Given the description of an element on the screen output the (x, y) to click on. 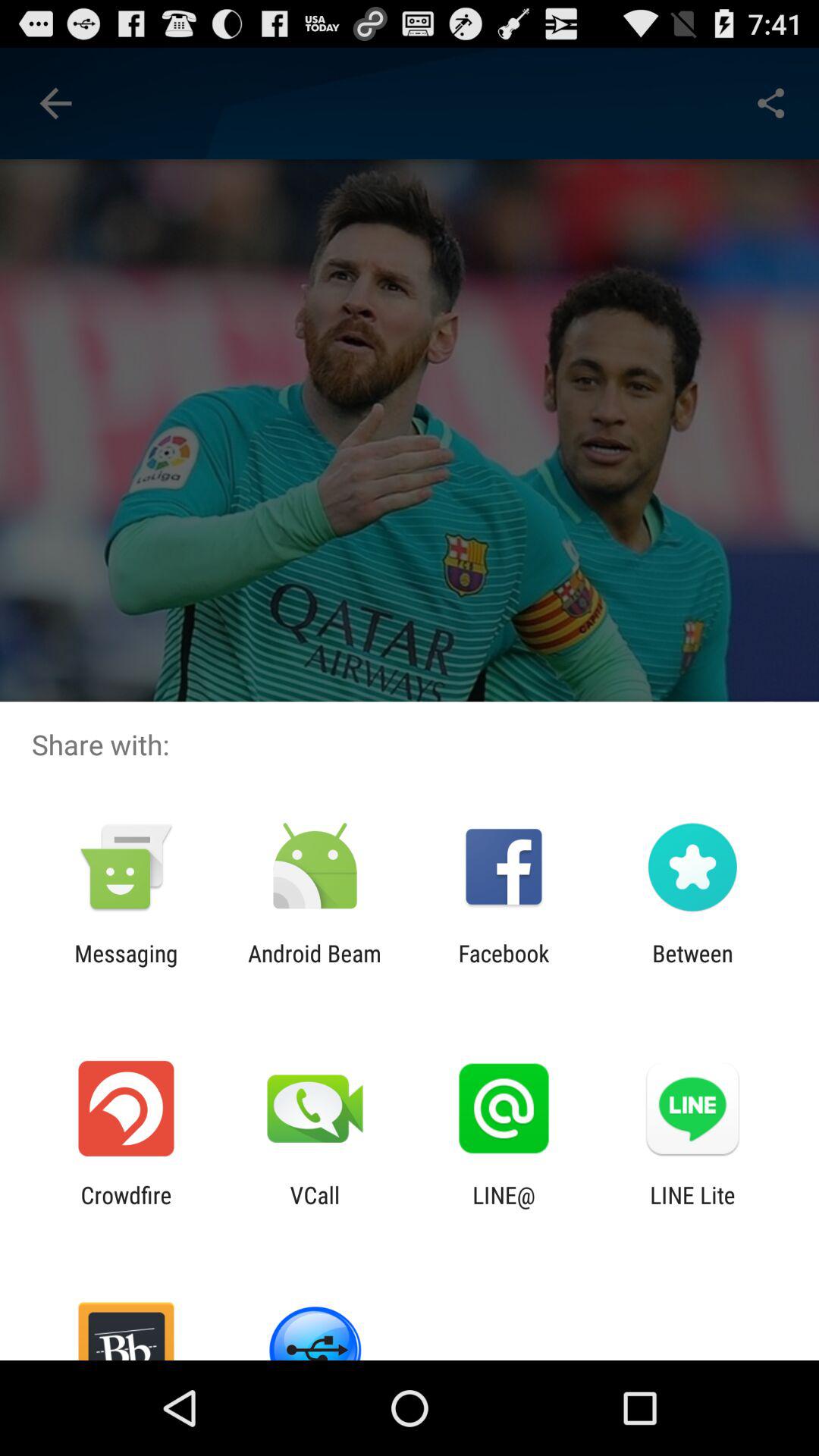
choose vcall app (315, 1208)
